Given the description of an element on the screen output the (x, y) to click on. 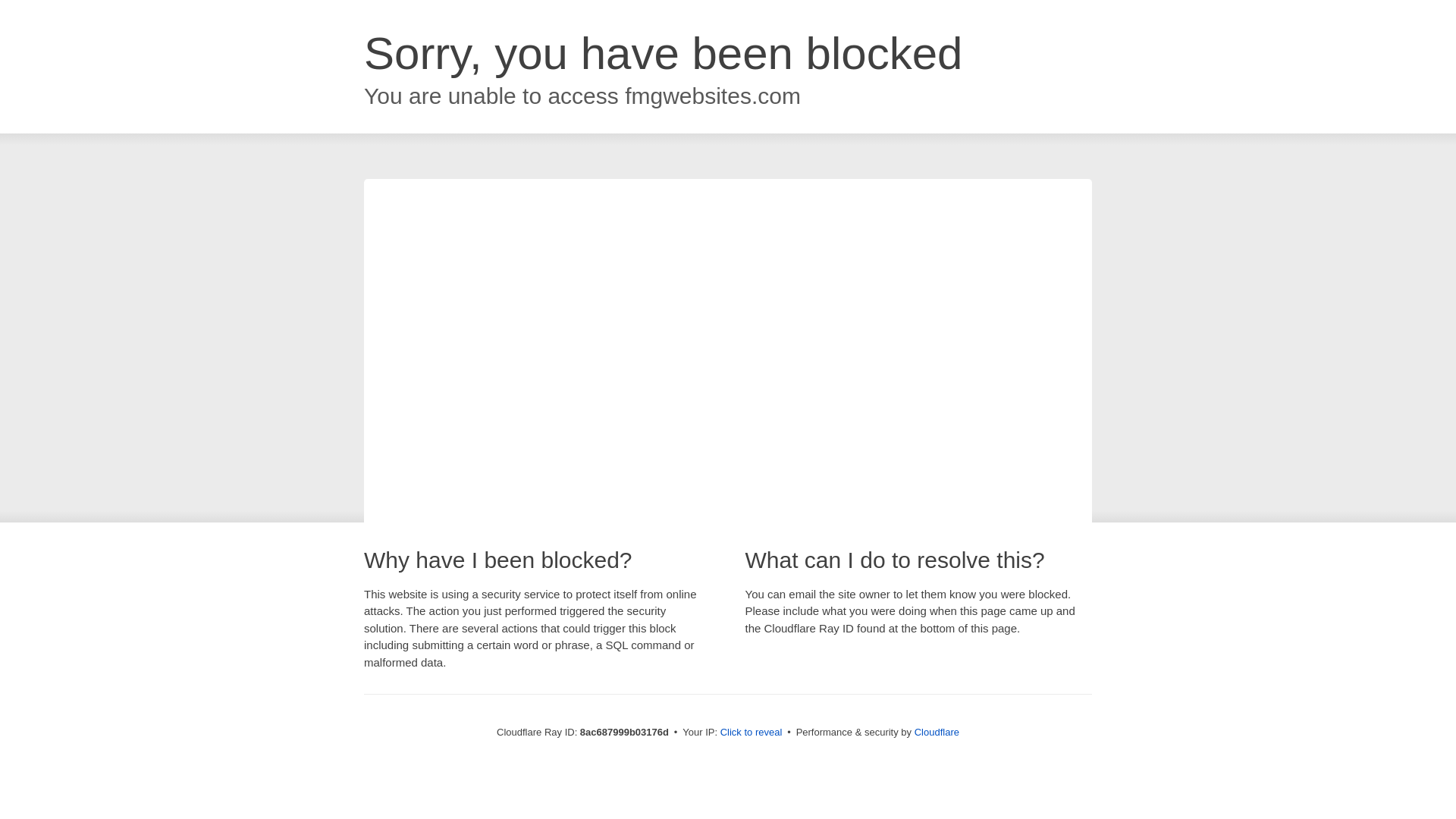
Click to reveal (751, 732)
Cloudflare (936, 731)
